Given the description of an element on the screen output the (x, y) to click on. 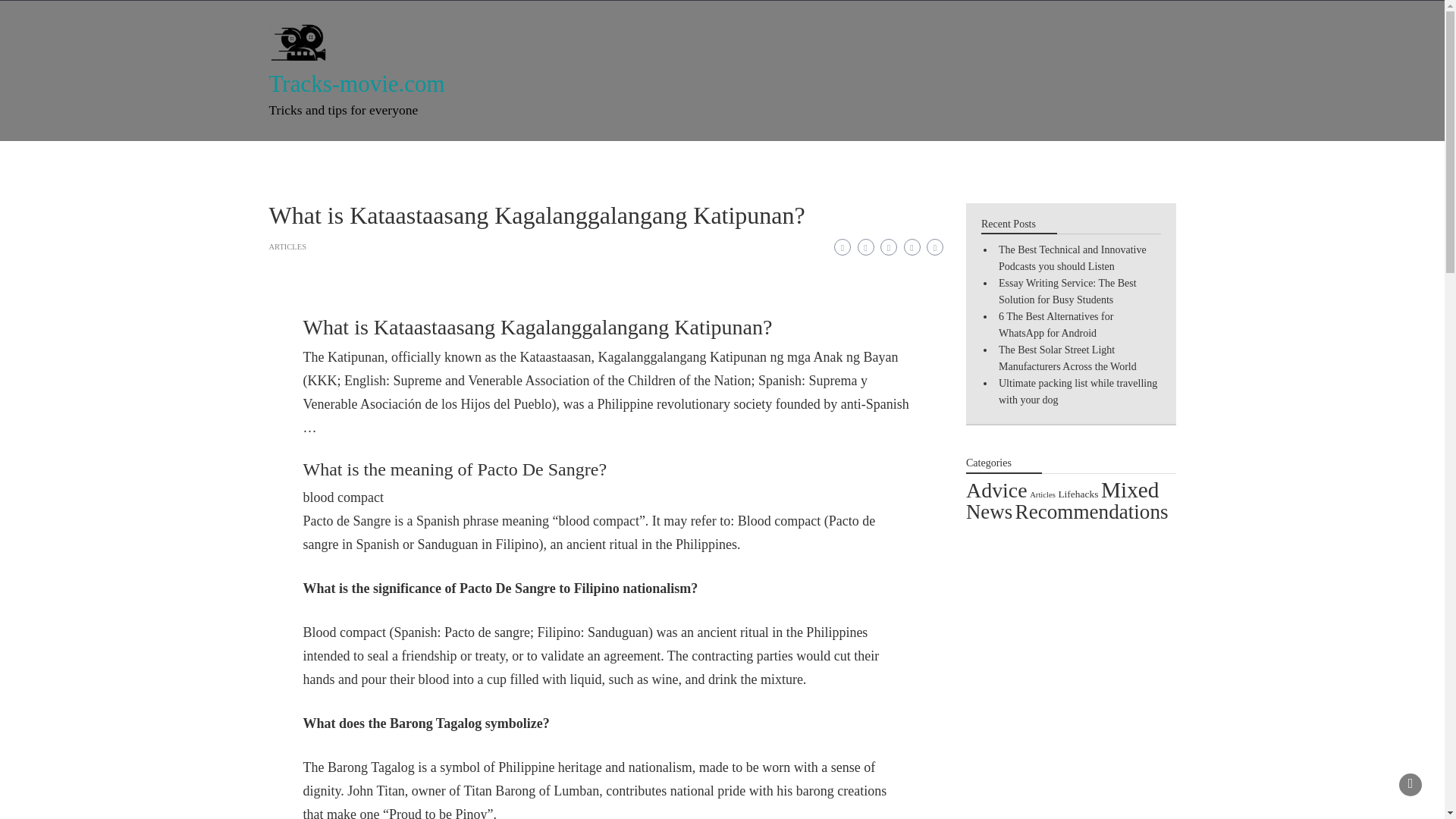
ARTICLES (286, 246)
Recommendations (731, 159)
News (508, 159)
Advice (443, 159)
Articles (1042, 494)
Essay Writing Service: The Best Solution for Busy Students (1067, 291)
Mixed (1129, 489)
Ultimate packing list while travelling with your dog (1077, 391)
The Best Solar Street Light Manufacturers Across the World (1067, 357)
Articles (573, 159)
